Given the description of an element on the screen output the (x, y) to click on. 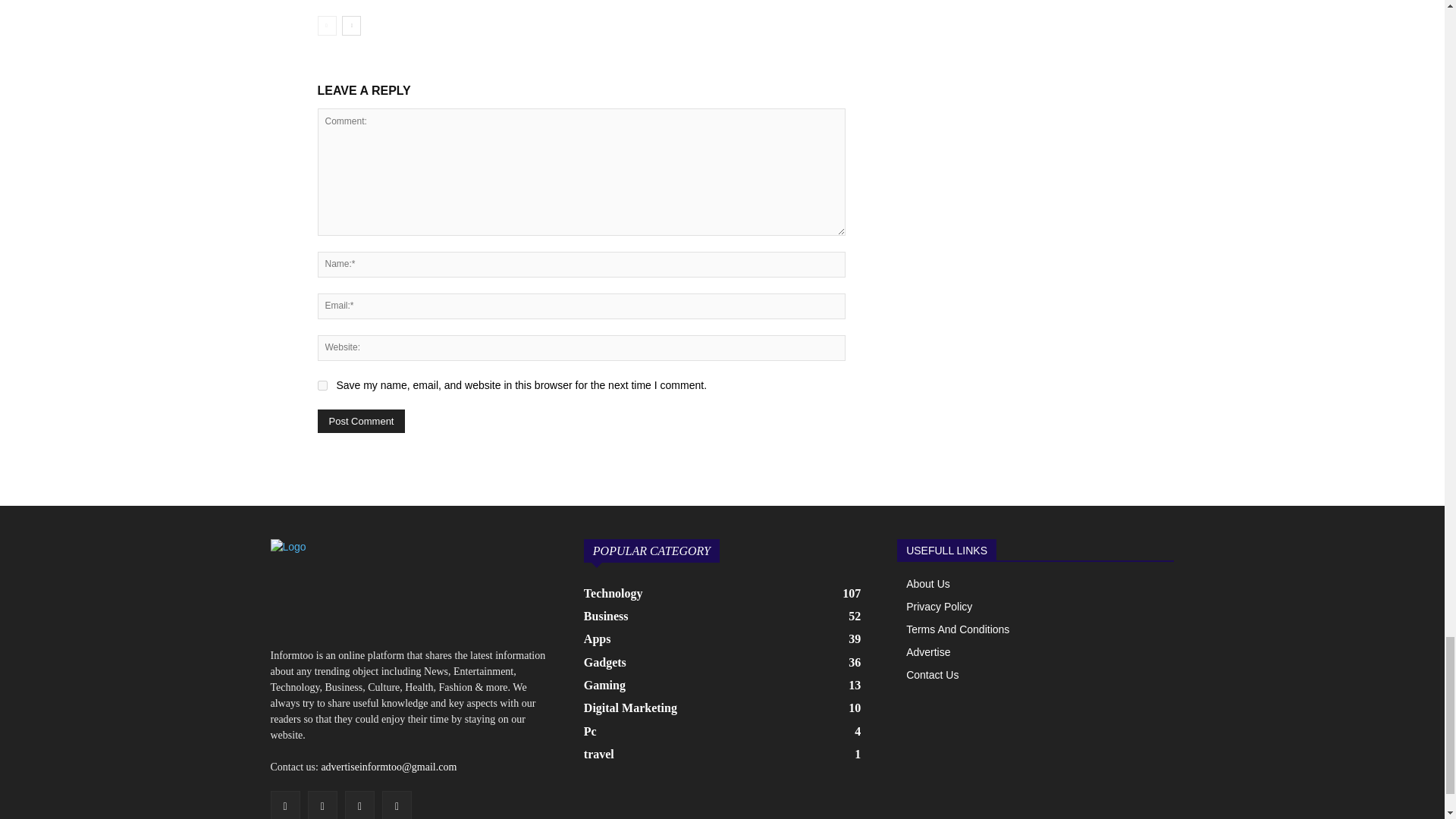
Post Comment (360, 421)
yes (321, 385)
